Given the description of an element on the screen output the (x, y) to click on. 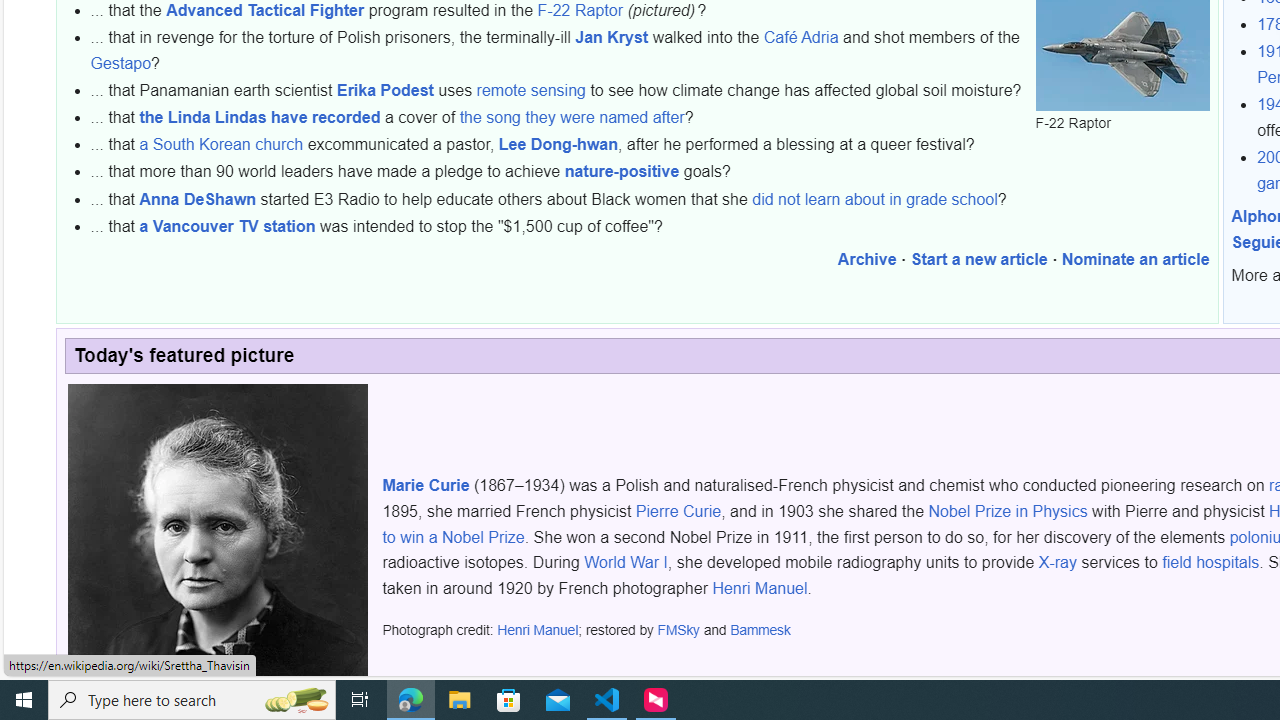
Pierre Curie (677, 512)
Nominate an article (1135, 260)
Lee Dong-hwan (557, 145)
nature-positive (621, 171)
Anna DeShawn (197, 199)
a Vancouver TV station (227, 225)
X-ray (1057, 562)
Advanced Tactical Fighter (265, 9)
Marie Curie (425, 485)
FMSky (678, 630)
Erika Podest (384, 89)
